Given the description of an element on the screen output the (x, y) to click on. 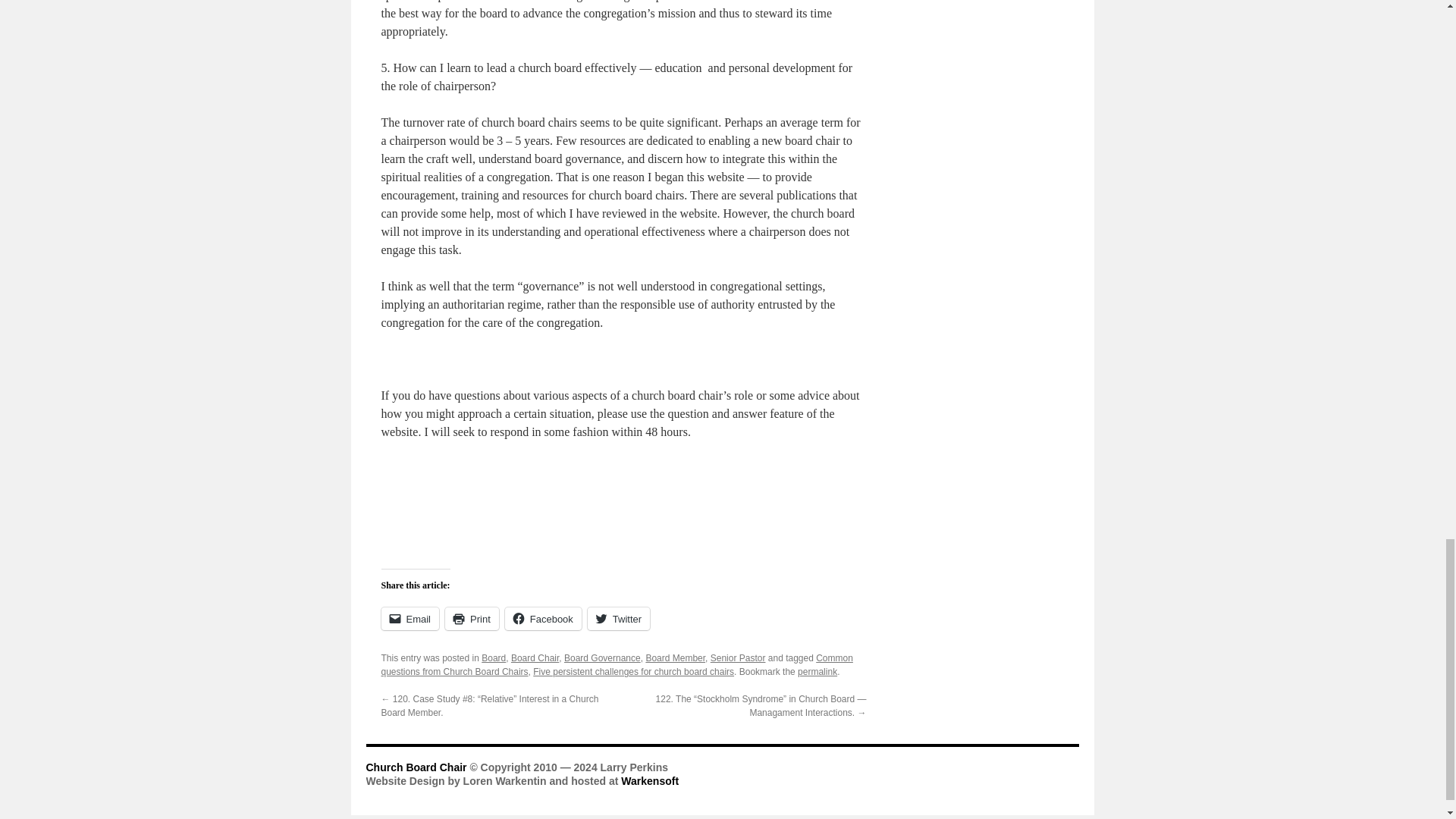
Common questions from Church Board Chairs (615, 664)
Church Board Chair (416, 767)
Click to email a link to a friend (409, 618)
Board (493, 657)
Email (409, 618)
permalink (817, 671)
Click to share on Facebook (542, 618)
Five persistent challenges for church board chairs (632, 671)
Board Governance (602, 657)
Twitter (618, 618)
Board Chair (535, 657)
Click to print (472, 618)
Senior Pastor (737, 657)
Click to share on Twitter (618, 618)
